Given the description of an element on the screen output the (x, y) to click on. 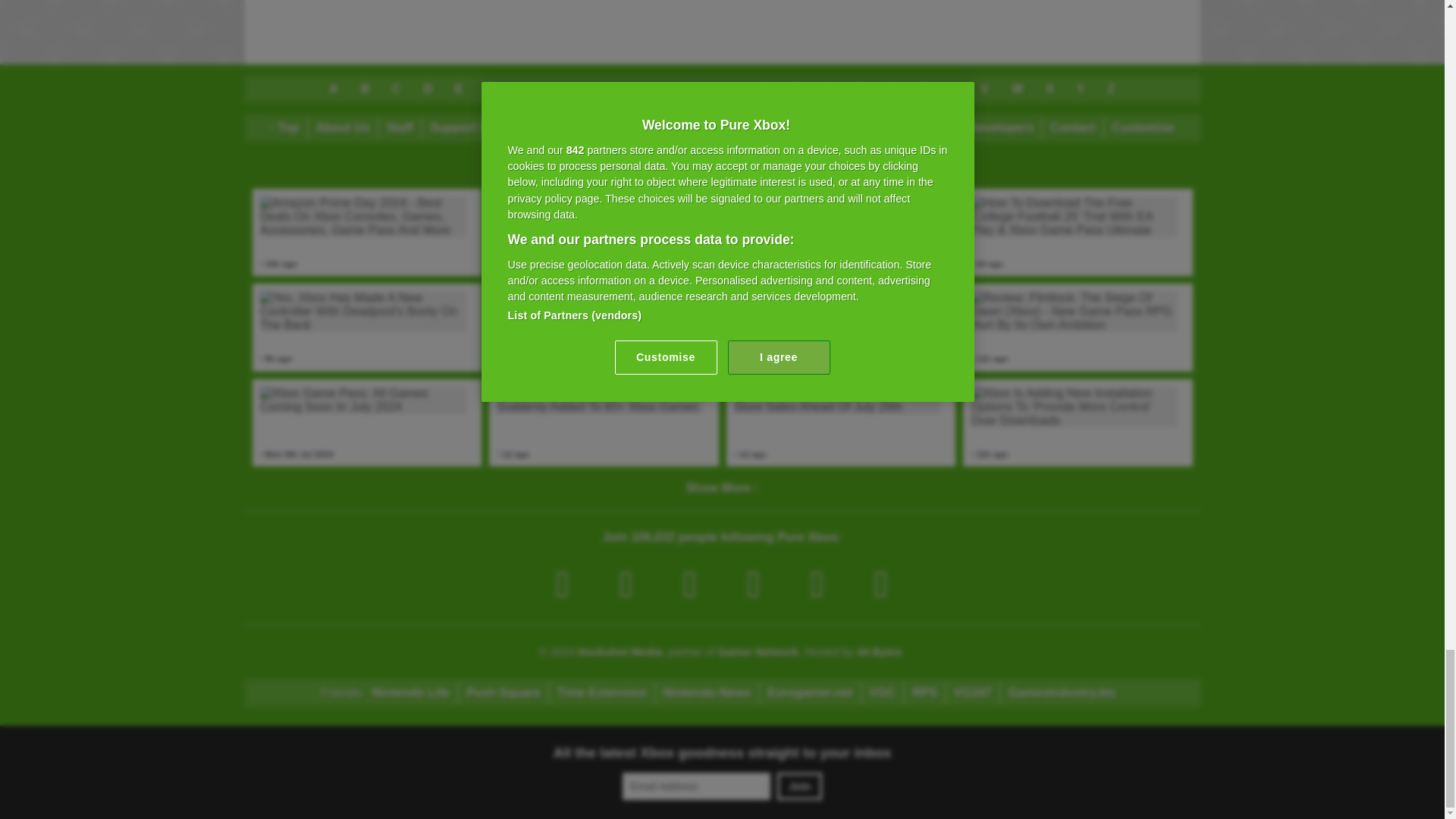
Join (799, 786)
